Given the description of an element on the screen output the (x, y) to click on. 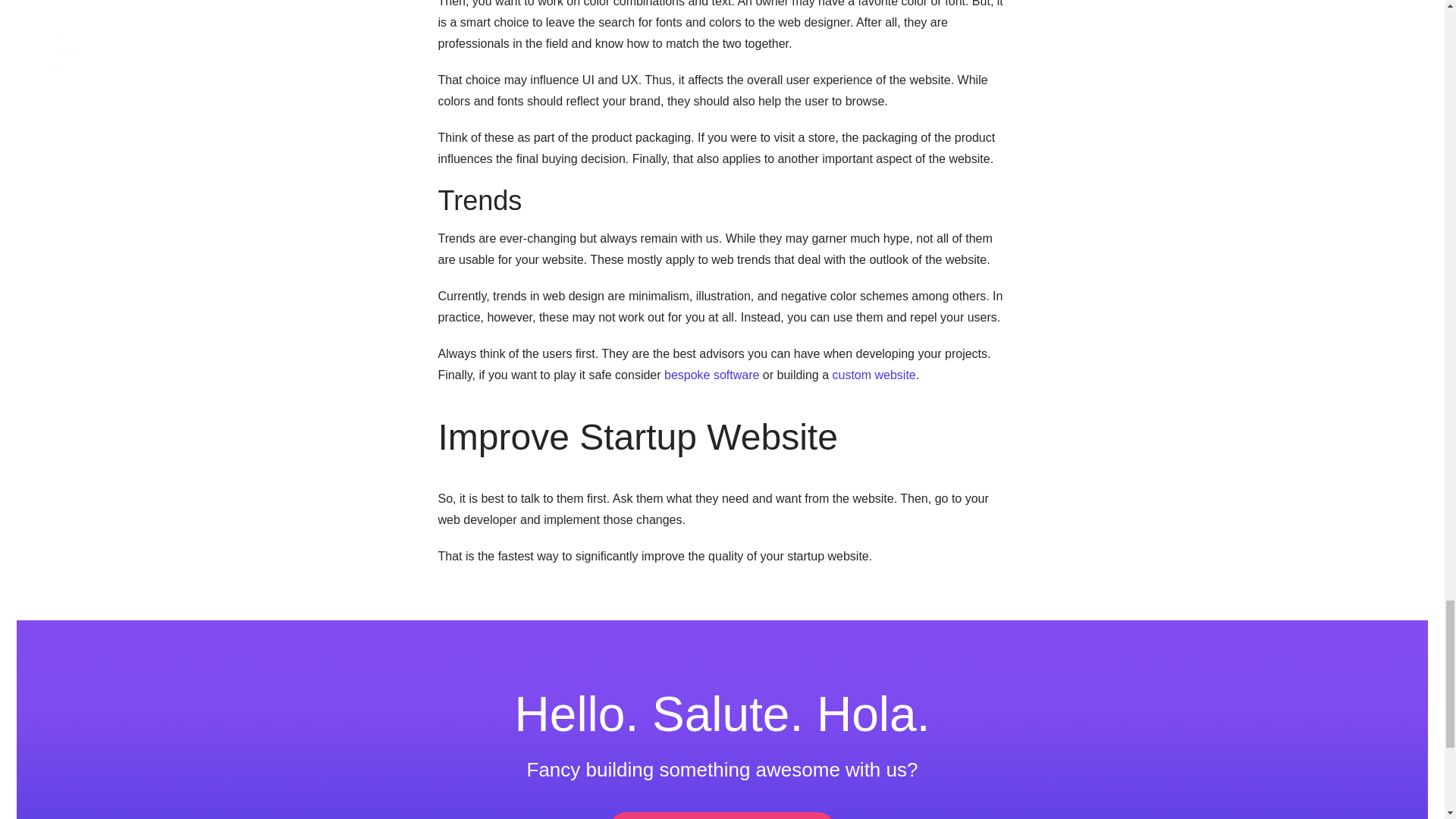
custom website (873, 374)
GET IN TOUCH WITH US (722, 815)
bespoke software (710, 374)
